Given the description of an element on the screen output the (x, y) to click on. 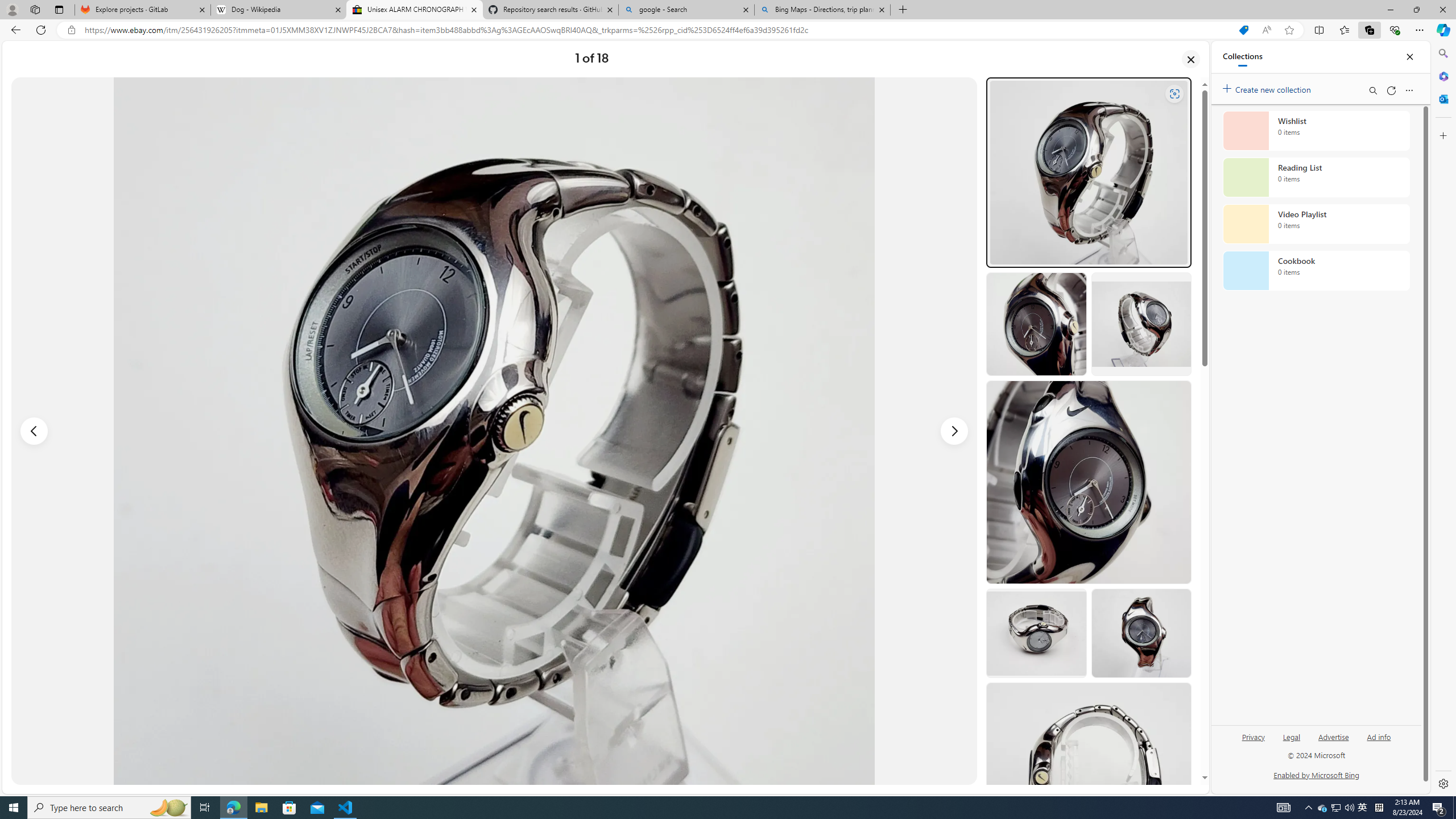
More options menu (1409, 90)
Wishlist collection, 0 items (1316, 130)
